Given the description of an element on the screen output the (x, y) to click on. 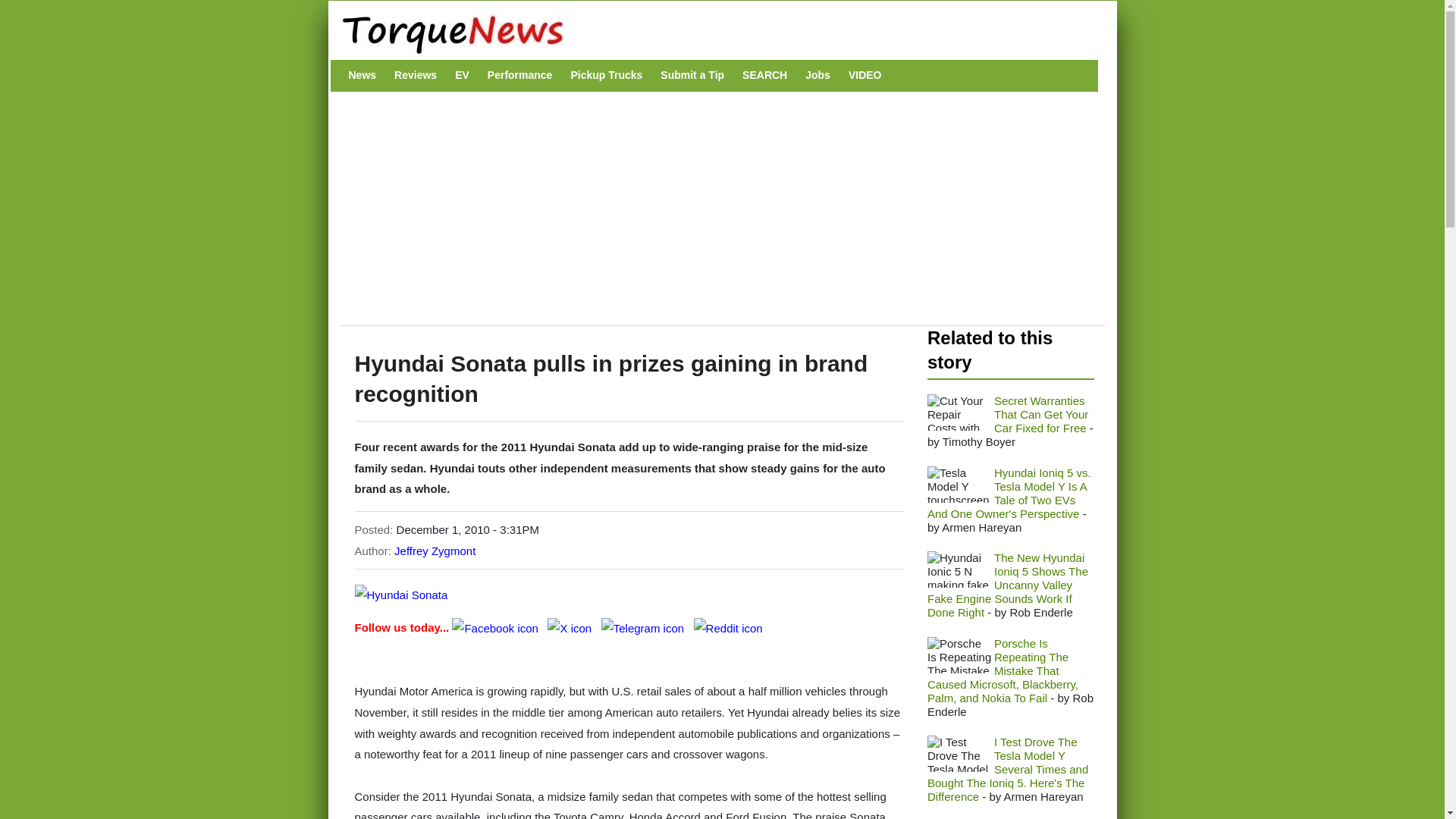
Performance (520, 75)
News (362, 75)
Submit a Tip (691, 75)
Join us on Reddit! (728, 626)
Jeffrey Zygmont (435, 550)
VIDEO (865, 75)
Home (713, 32)
Hyundai Ionic 5 N (959, 569)
